Given the description of an element on the screen output the (x, y) to click on. 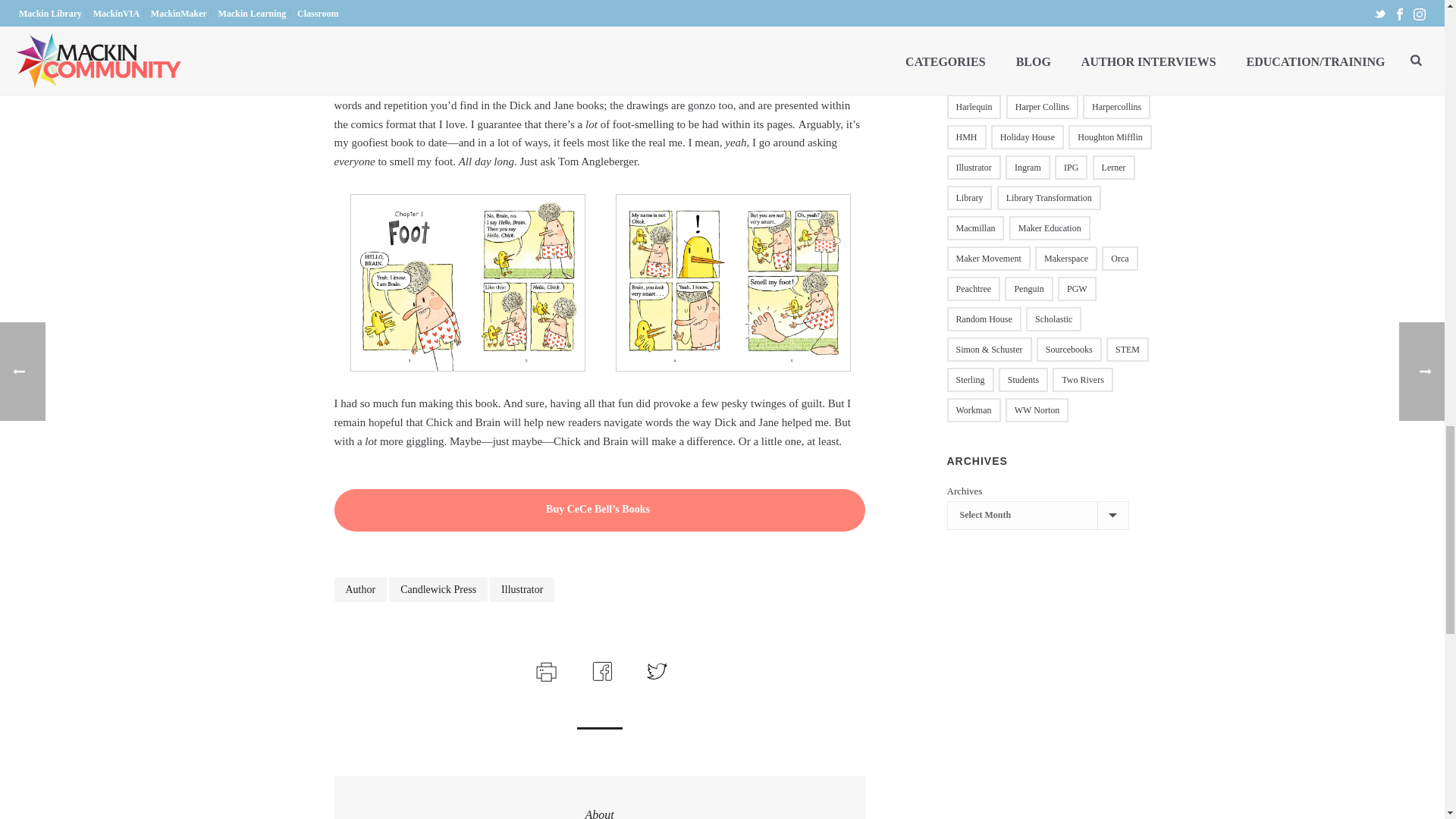
Print (544, 669)
